Given the description of an element on the screen output the (x, y) to click on. 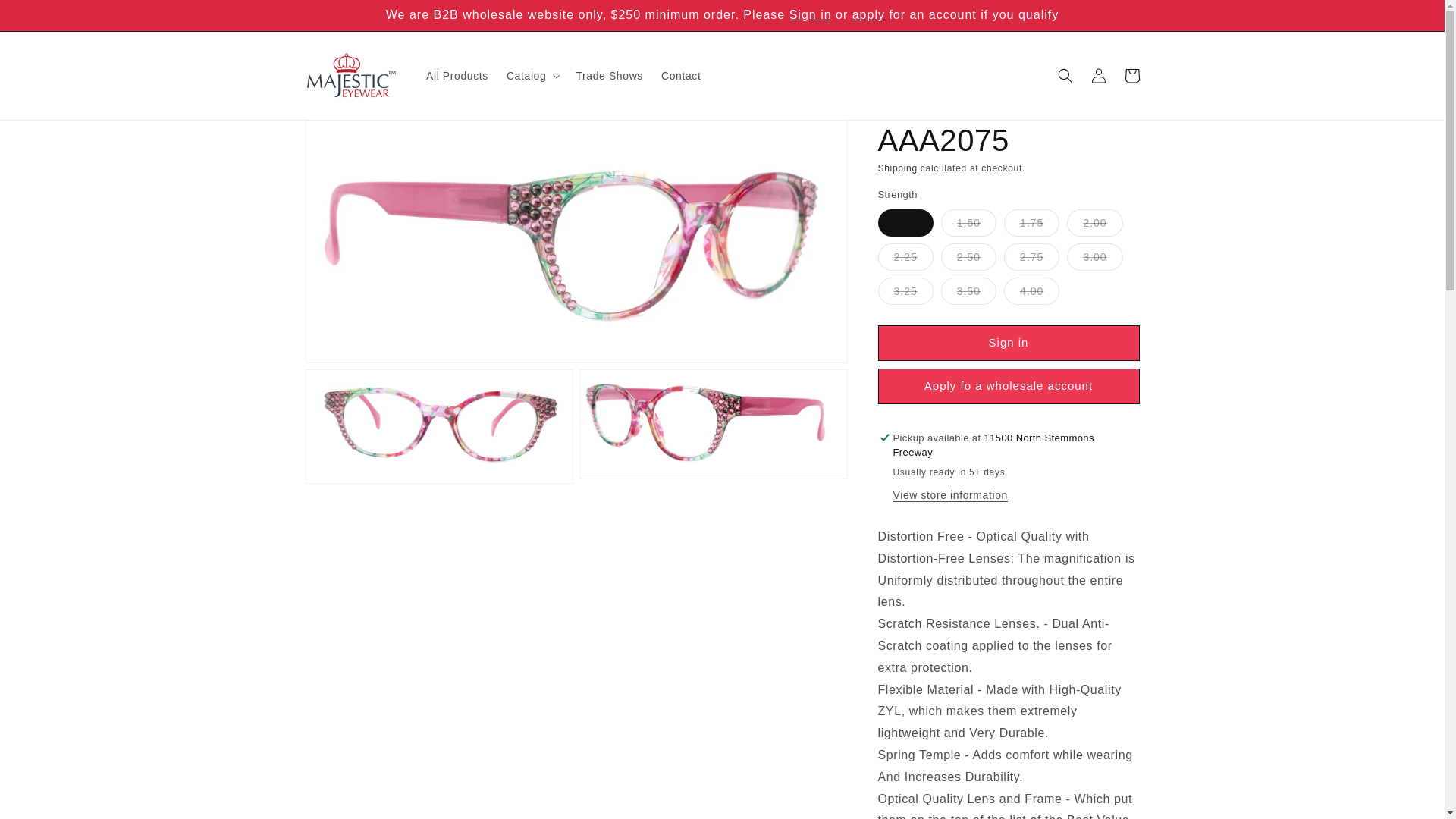
Cart (1131, 75)
Trade Shows (609, 75)
Contact (681, 75)
apply (868, 14)
Skip to content (45, 17)
